Given the description of an element on the screen output the (x, y) to click on. 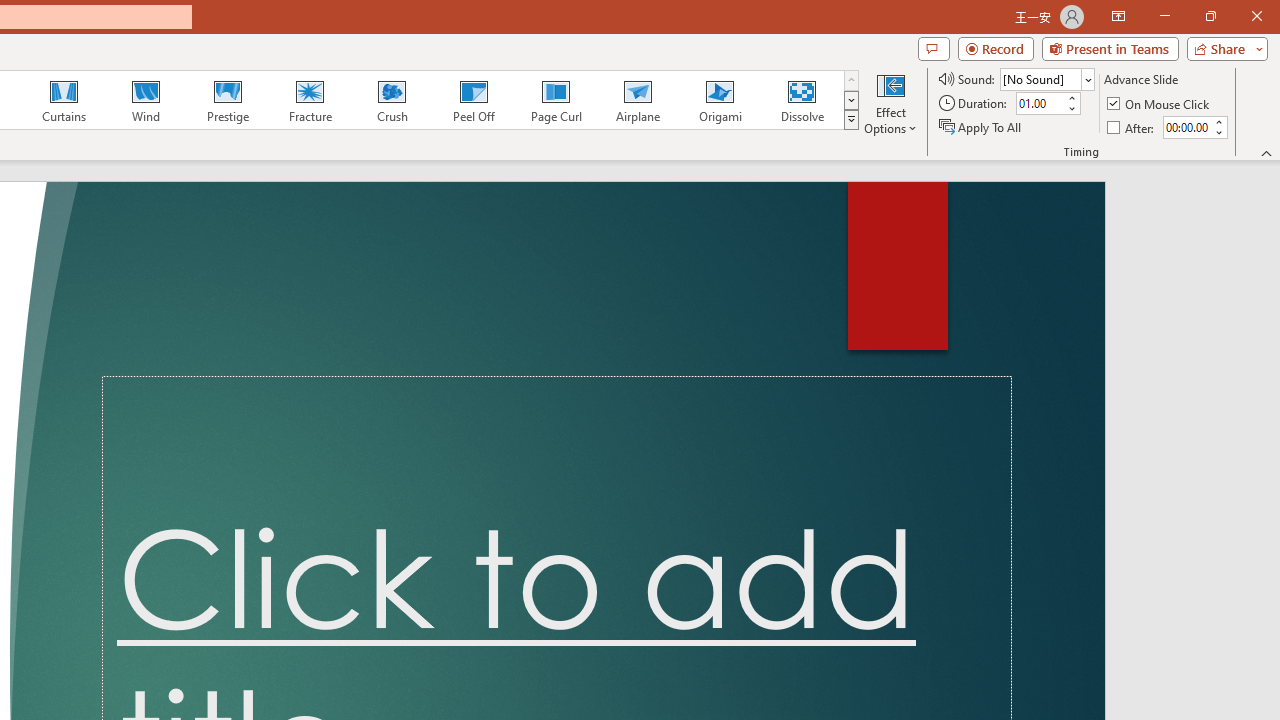
Variants (1009, 120)
Damask Loading Preview... (171, 100)
AutomationID: ThemeVariantsGallery (822, 99)
Droplet Loading Preview... (358, 100)
Ion Variant 2 (768, 100)
Dividend Loading Preview... (265, 100)
